Given the description of an element on the screen output the (x, y) to click on. 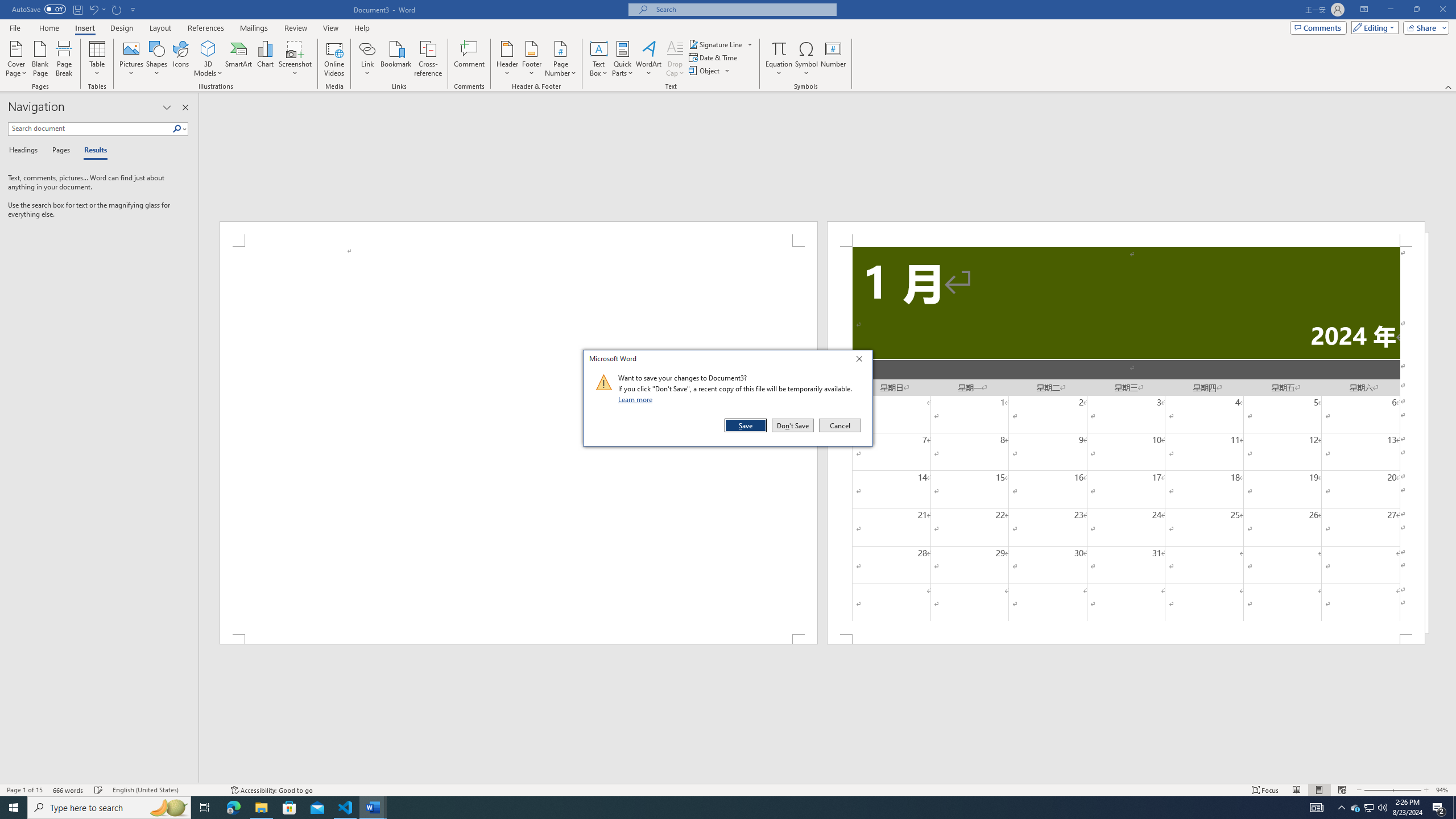
Page Number Page 1 of 15 (24, 790)
Page Number (560, 58)
Blank Page (40, 58)
Symbol (806, 58)
Word - 2 running windows (373, 807)
Link (367, 58)
